Given the description of an element on the screen output the (x, y) to click on. 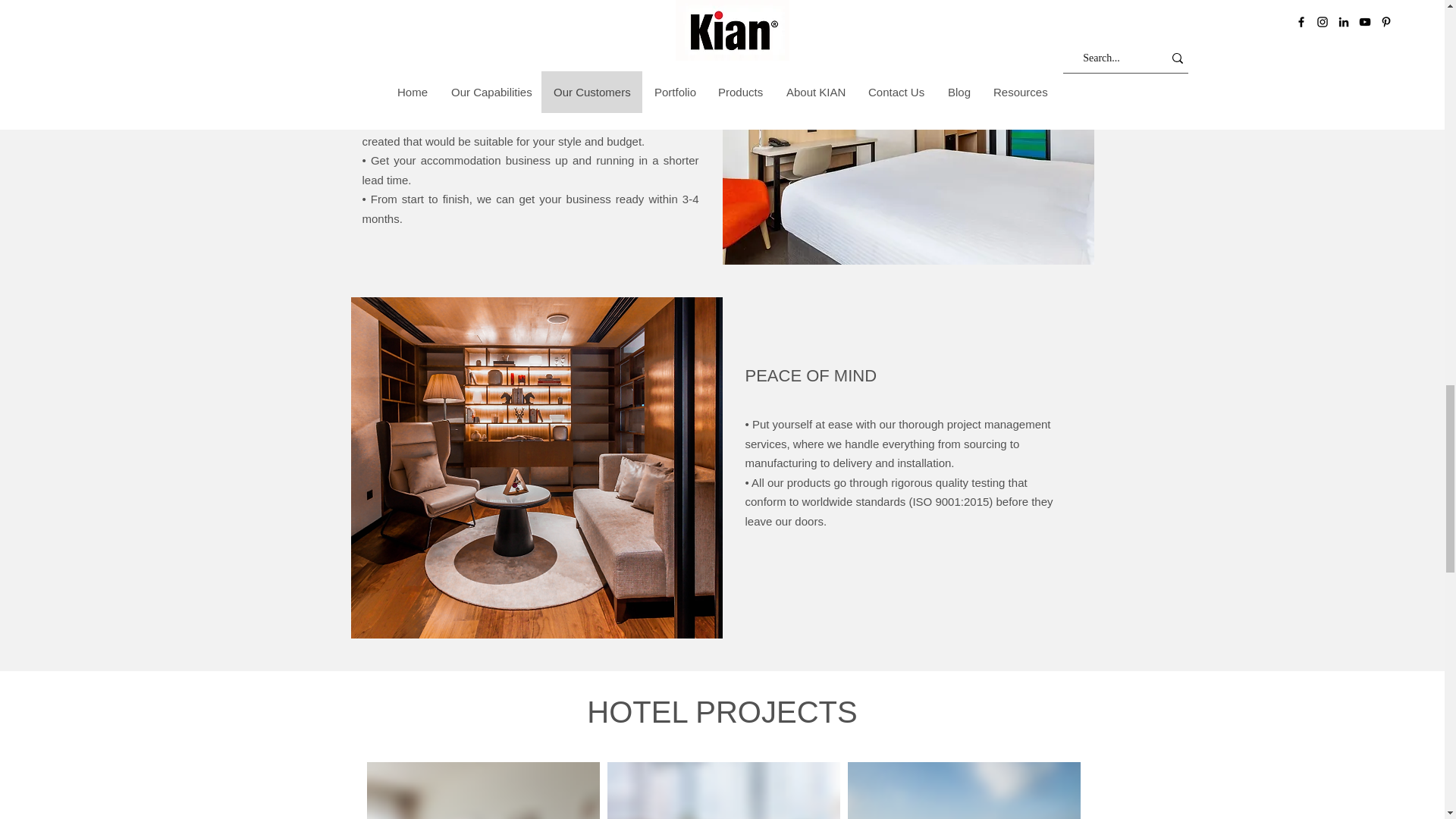
Hotel-Project-C.png (963, 790)
Hotel-Project-A.png (482, 790)
Hotel-Project-B.png (723, 790)
